Given the description of an element on the screen output the (x, y) to click on. 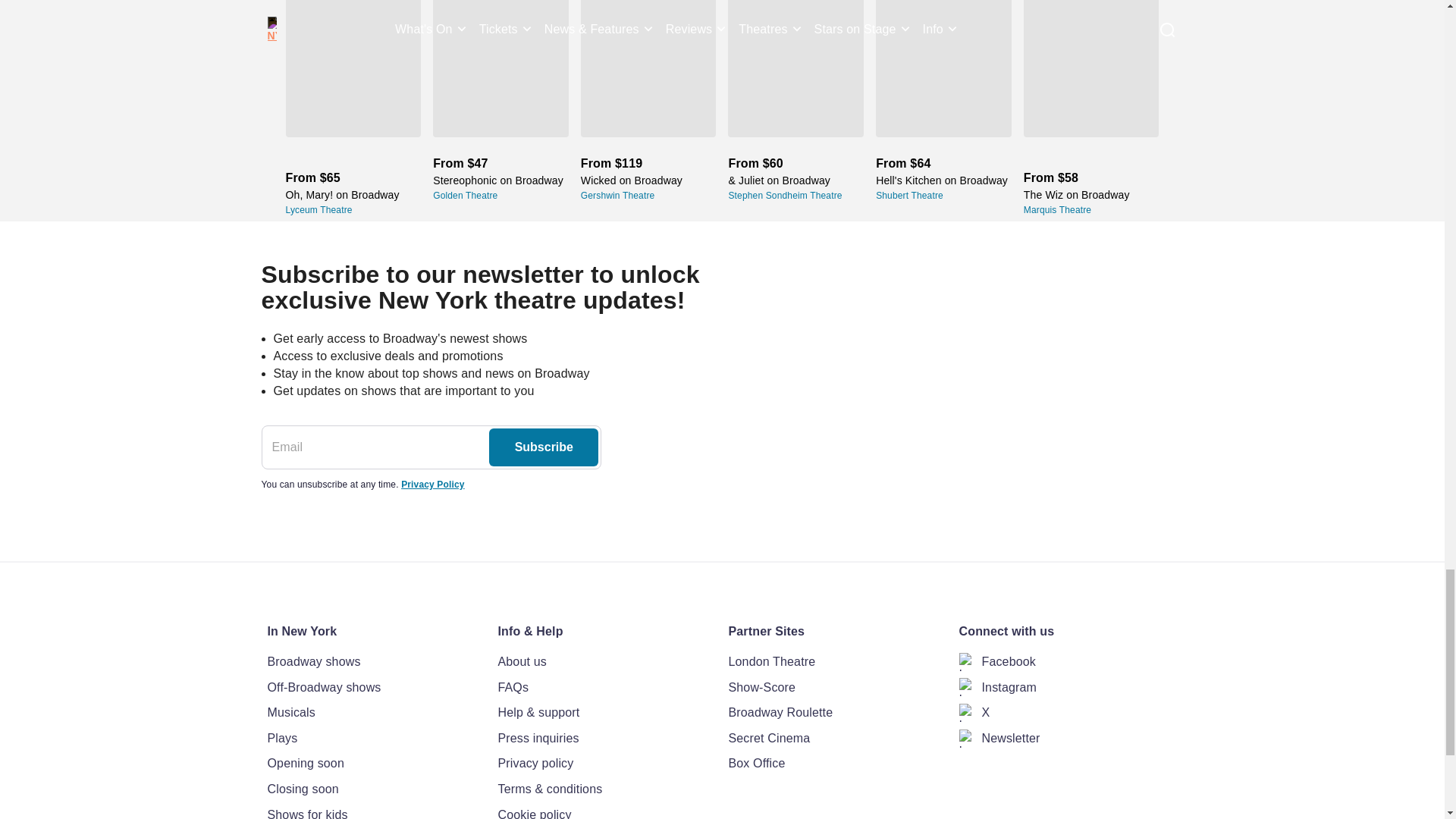
Broadway shows (375, 661)
Off-Broadway shows (375, 687)
Musicals (375, 712)
Plays (375, 738)
